Given the description of an element on the screen output the (x, y) to click on. 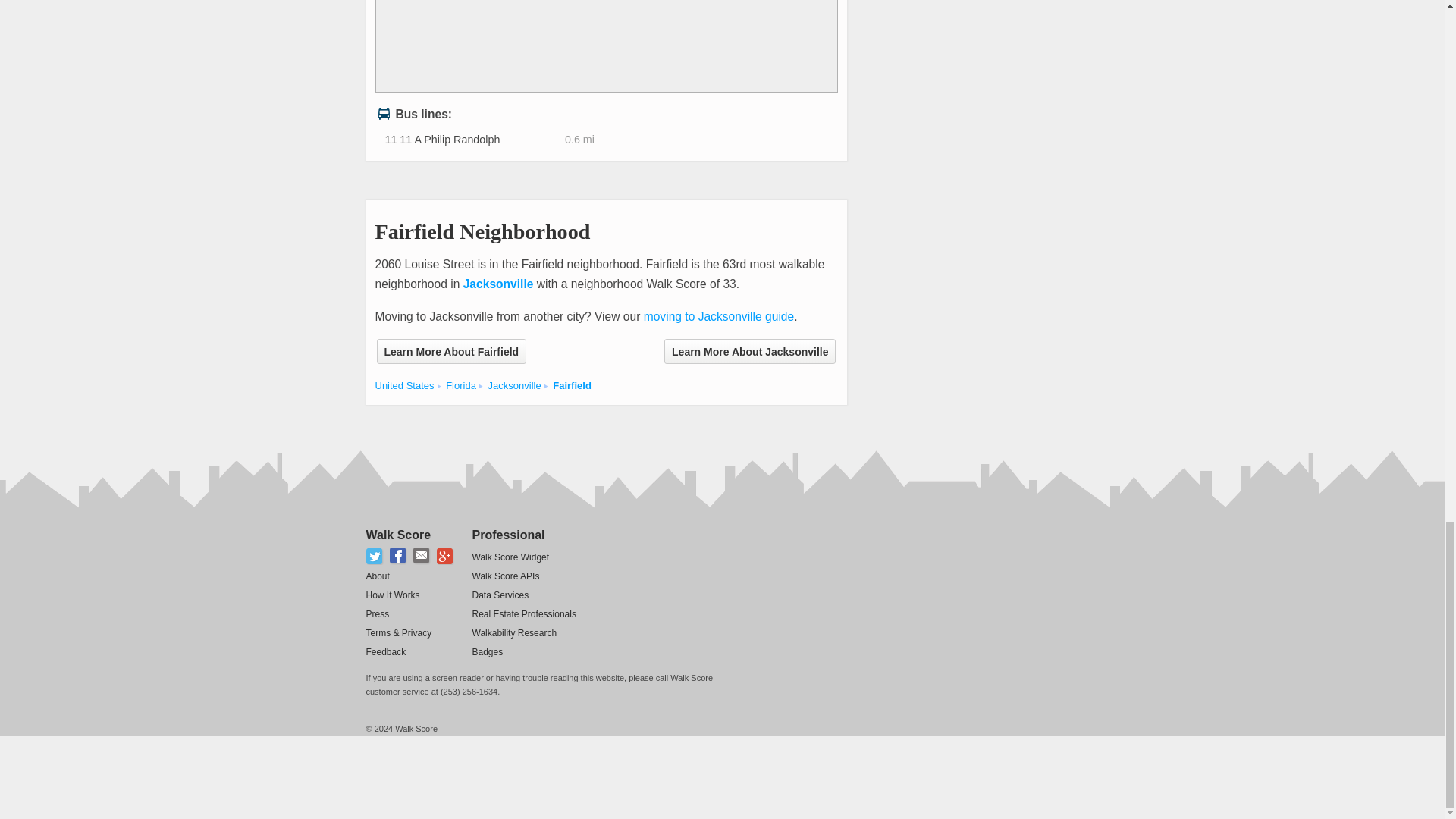
Cities in Florida state (460, 385)
Jacksonville (498, 283)
Learn More About Jacksonville (749, 351)
moving to Jacksonville guide (718, 316)
United States Walkability Rankings (403, 385)
United States (403, 385)
Learn More About Fairfield (450, 351)
